Given the description of an element on the screen output the (x, y) to click on. 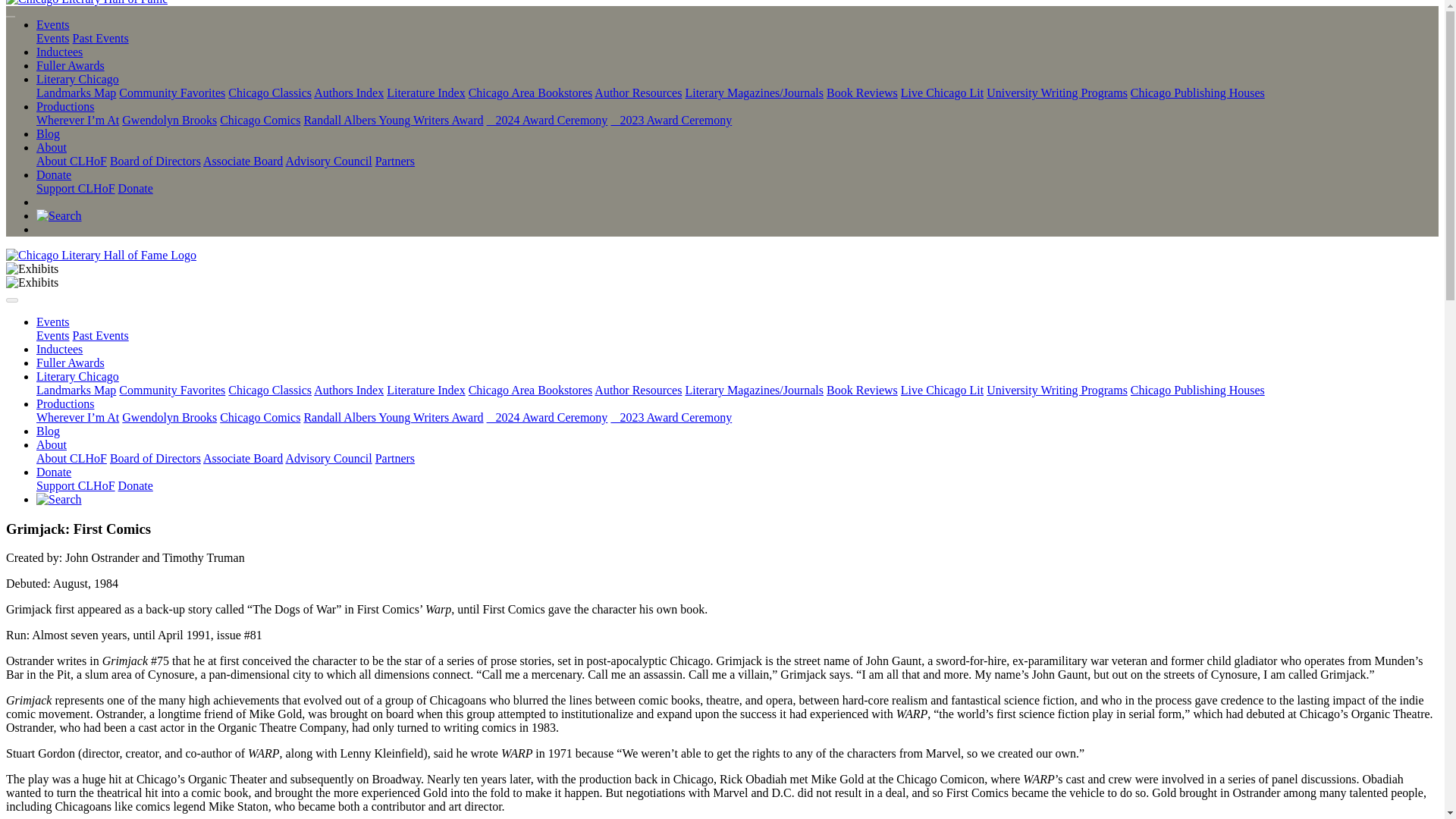
Associate Board (242, 160)
Chicago Area Bookstores (530, 92)
Fuller Awards (70, 65)
Past Events (100, 38)
Chicago Comics (259, 119)
Chicago Publishing Houses (1198, 92)
Productions (65, 106)
Community Favorites (172, 92)
Literature Index (426, 92)
Home (100, 254)
